Given the description of an element on the screen output the (x, y) to click on. 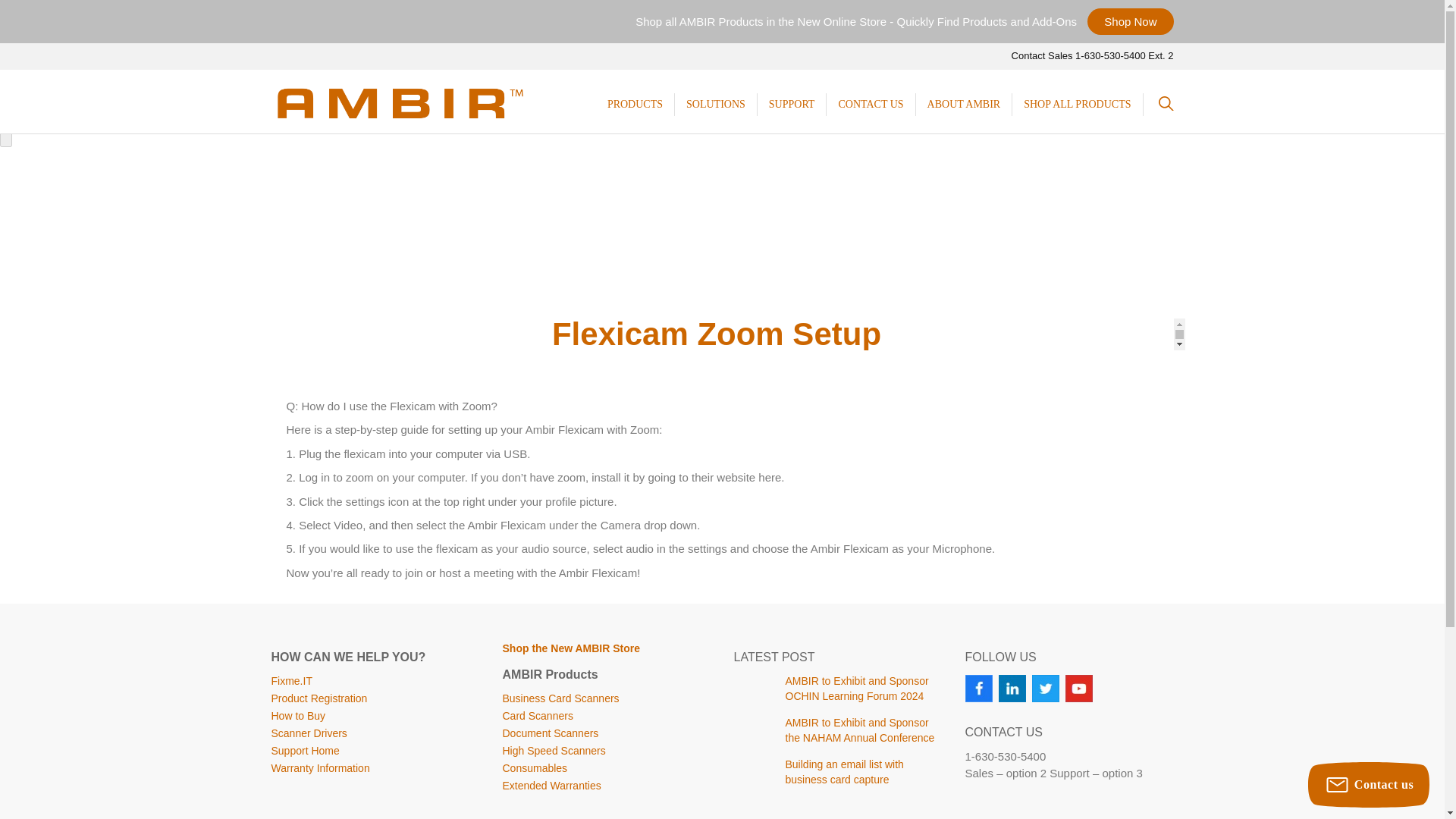
PRODUCTS (634, 104)
Shop Now (1130, 21)
SOLUTIONS (716, 104)
